Given the description of an element on the screen output the (x, y) to click on. 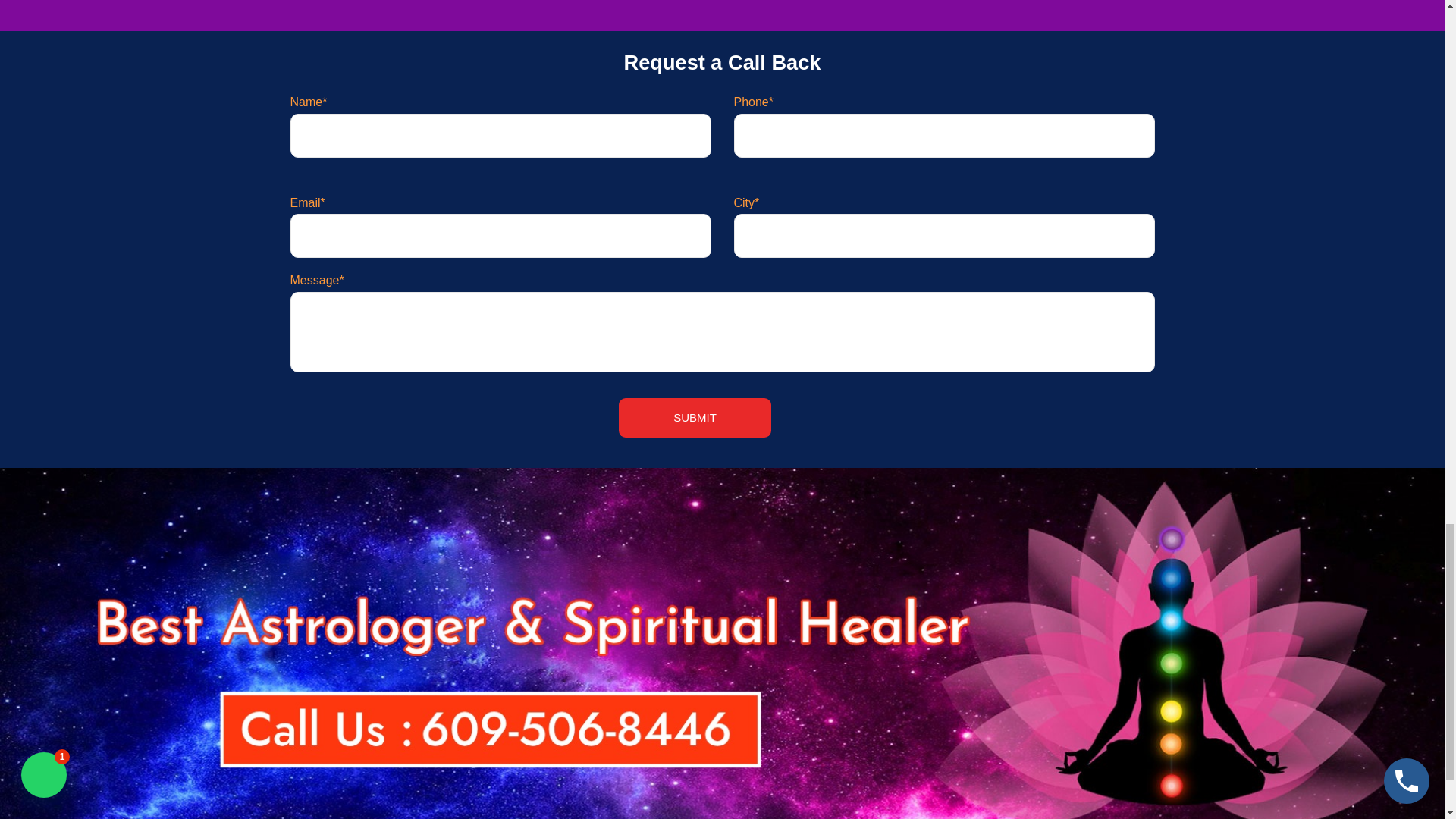
SUBMIT (694, 417)
